Given the description of an element on the screen output the (x, y) to click on. 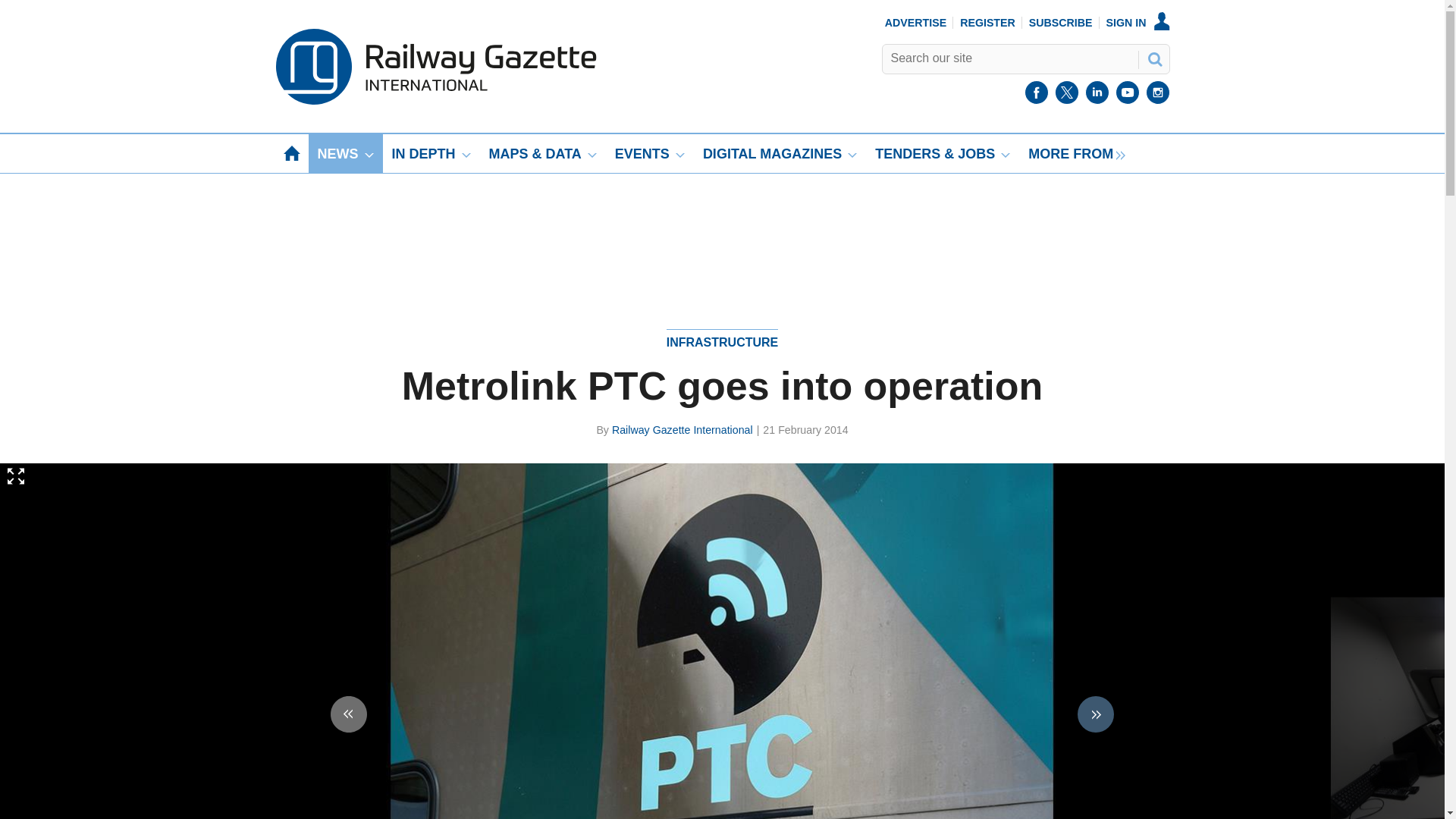
SUBSCRIBE (1061, 22)
SIGN IN (1138, 22)
Railway Gazette (435, 101)
SEARCH (1153, 58)
REGISTER (986, 22)
3rd party ad content (721, 225)
ADVERTISE (915, 22)
